Given the description of an element on the screen output the (x, y) to click on. 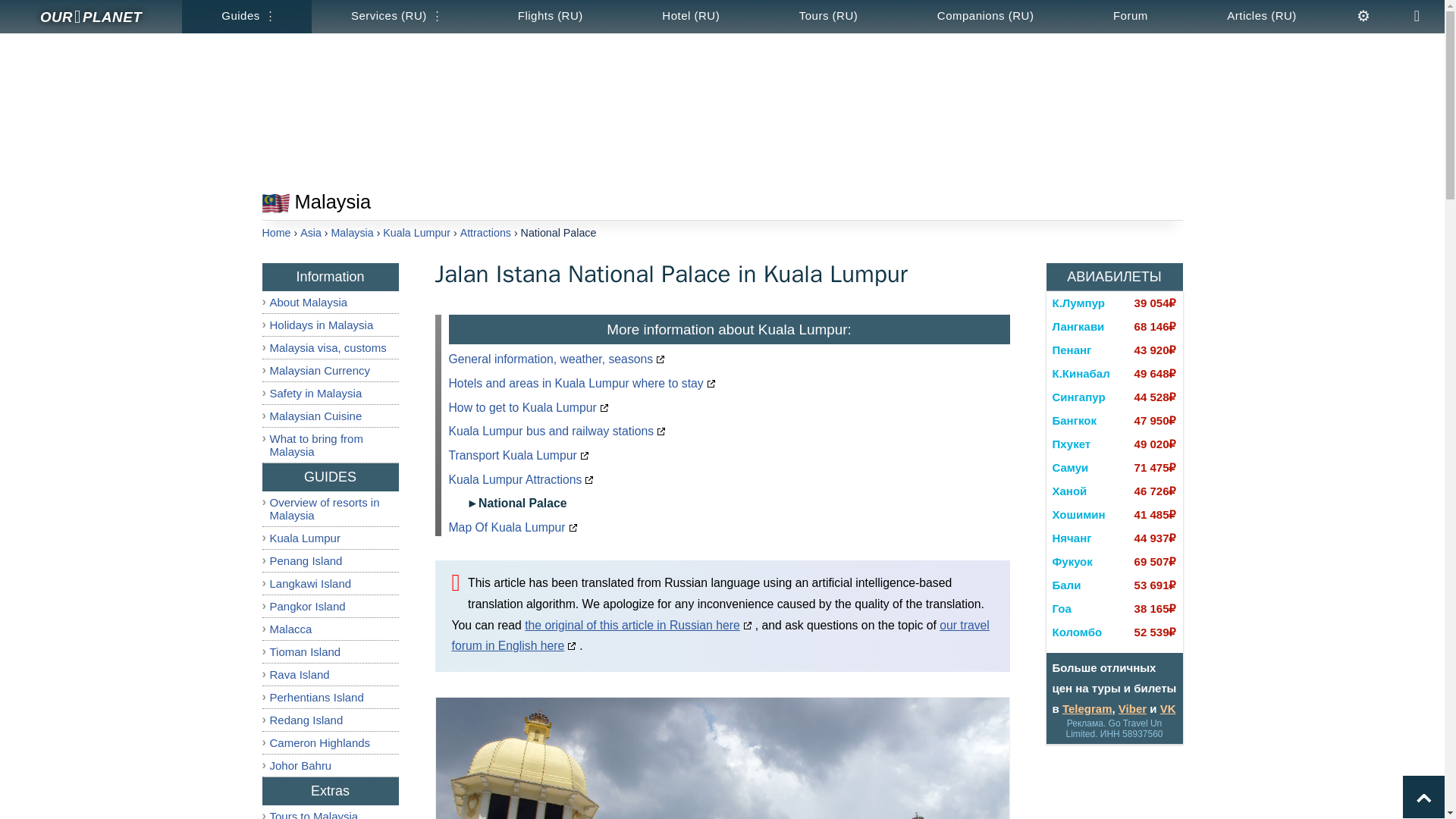
Search on site (1417, 16)
Kuala Lumpur, Jalan Istana National Palace (722, 757)
Forum (1131, 16)
Options (1364, 16)
Guides (246, 16)
